Given the description of an element on the screen output the (x, y) to click on. 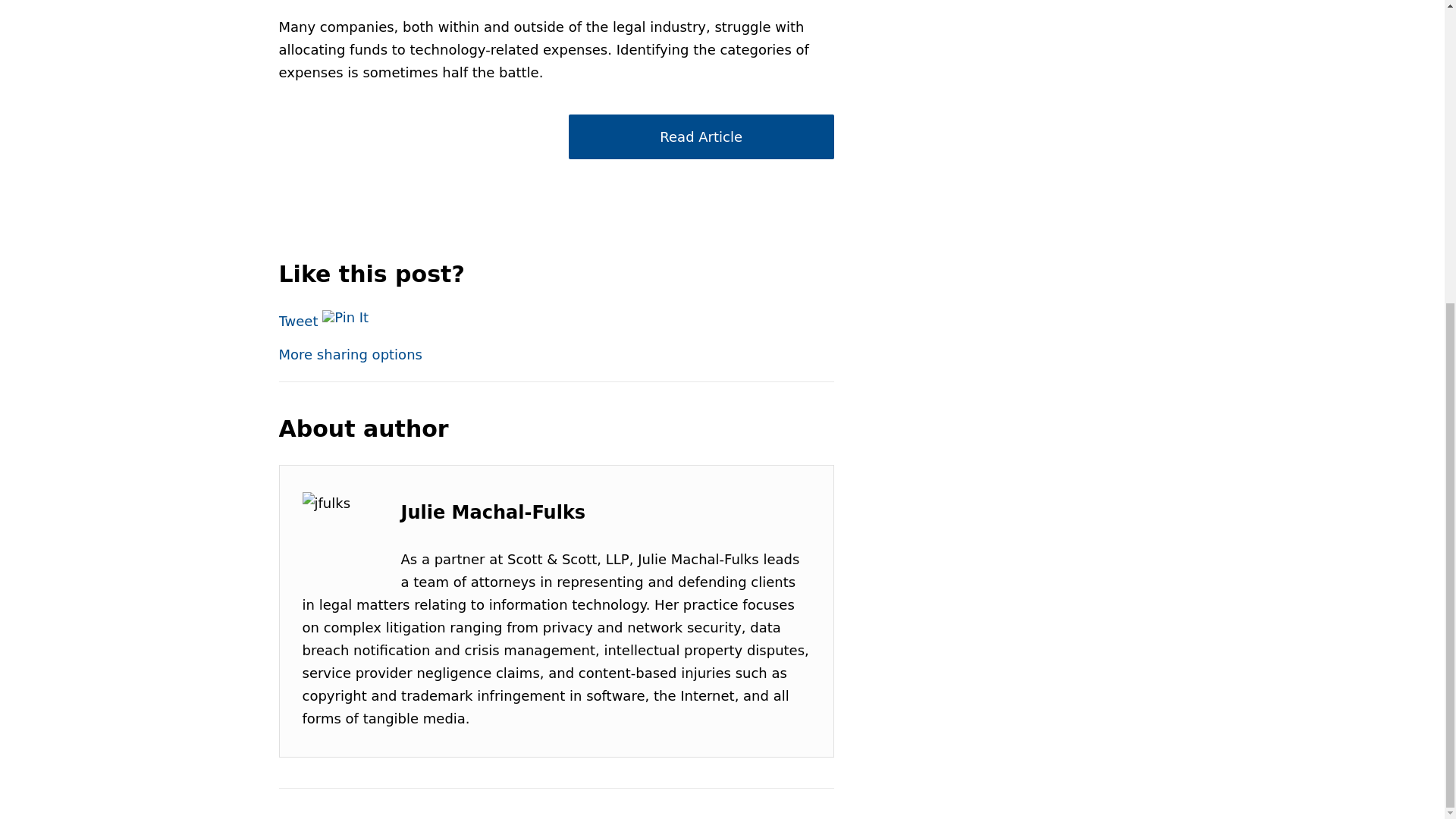
Tweet (298, 320)
More sharing options (350, 354)
Pin It (344, 317)
Read Article (701, 136)
